Given the description of an element on the screen output the (x, y) to click on. 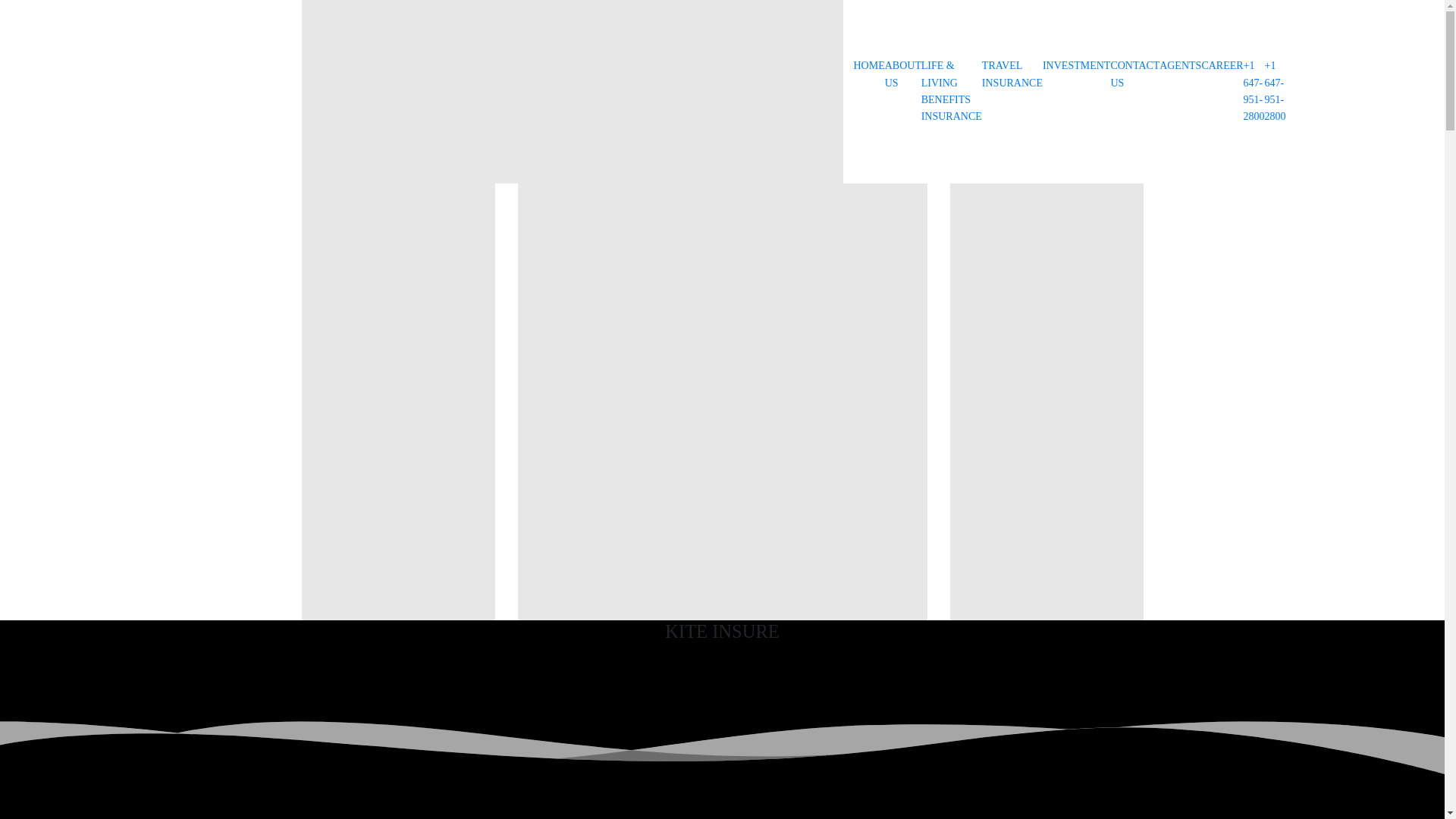
HOME Element type: text (868, 65)
AGENTS Element type: text (1180, 65)
ABOUT US Element type: text (902, 74)
+1 647-951-2800 Element type: text (1253, 91)
INVESTMENT Element type: text (1076, 65)
LIFE & LIVING BENEFITS INSURANCE Element type: text (951, 91)
+1 647-951-2800 Element type: text (1275, 91)
CAREER Element type: text (1221, 65)
TRAVEL INSURANCE Element type: text (1012, 74)
CONTACT US Element type: text (1134, 74)
